Given the description of an element on the screen output the (x, y) to click on. 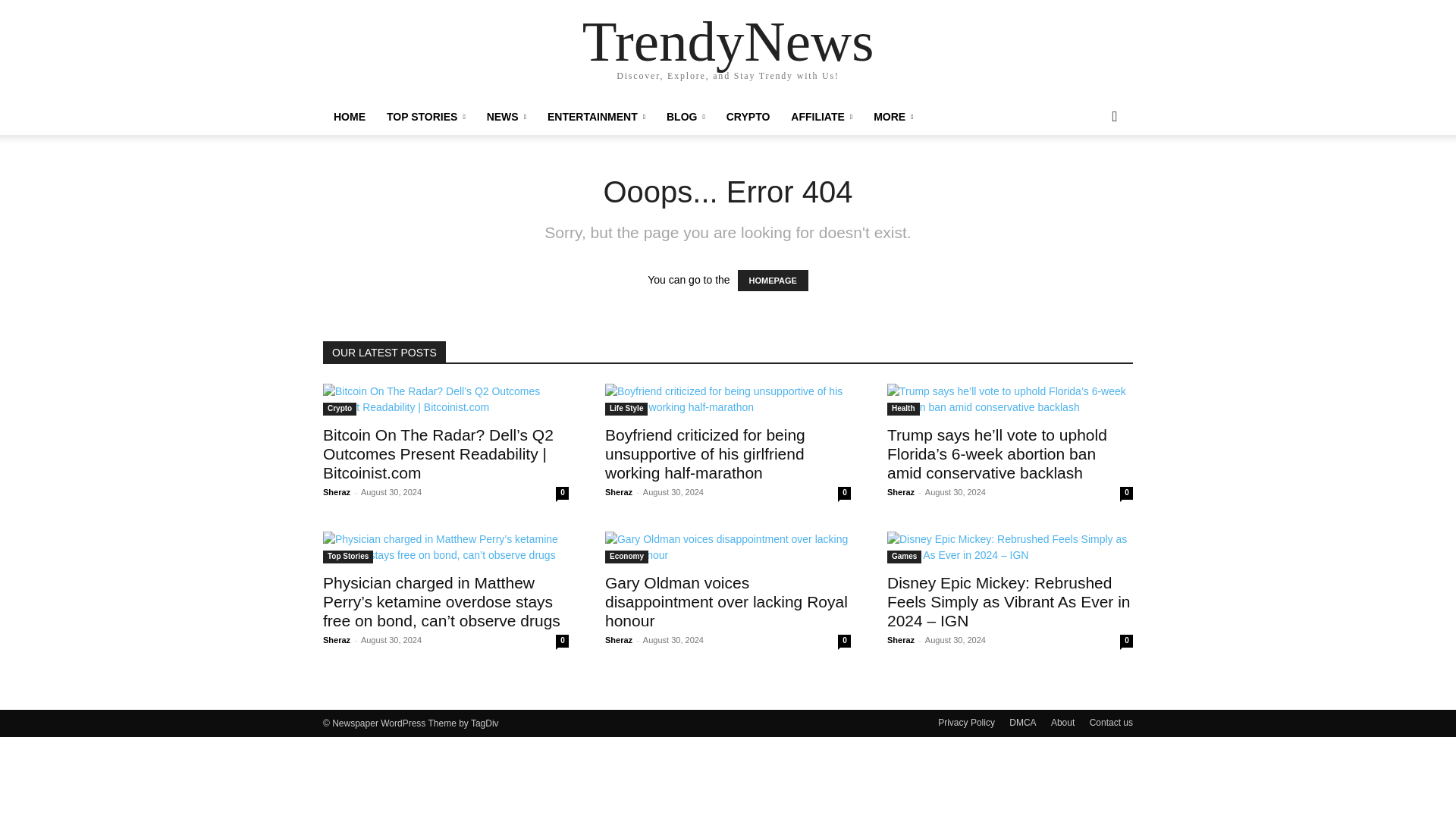
ENTERTAINMENT (596, 116)
TOP STORIES (425, 116)
NEWS (506, 116)
TrendyNews (728, 41)
HOME (349, 116)
Gary Oldman voices disappointment over lacking Royal honour (727, 547)
Gary Oldman voices disappointment over lacking Royal honour (726, 601)
